Given the description of an element on the screen output the (x, y) to click on. 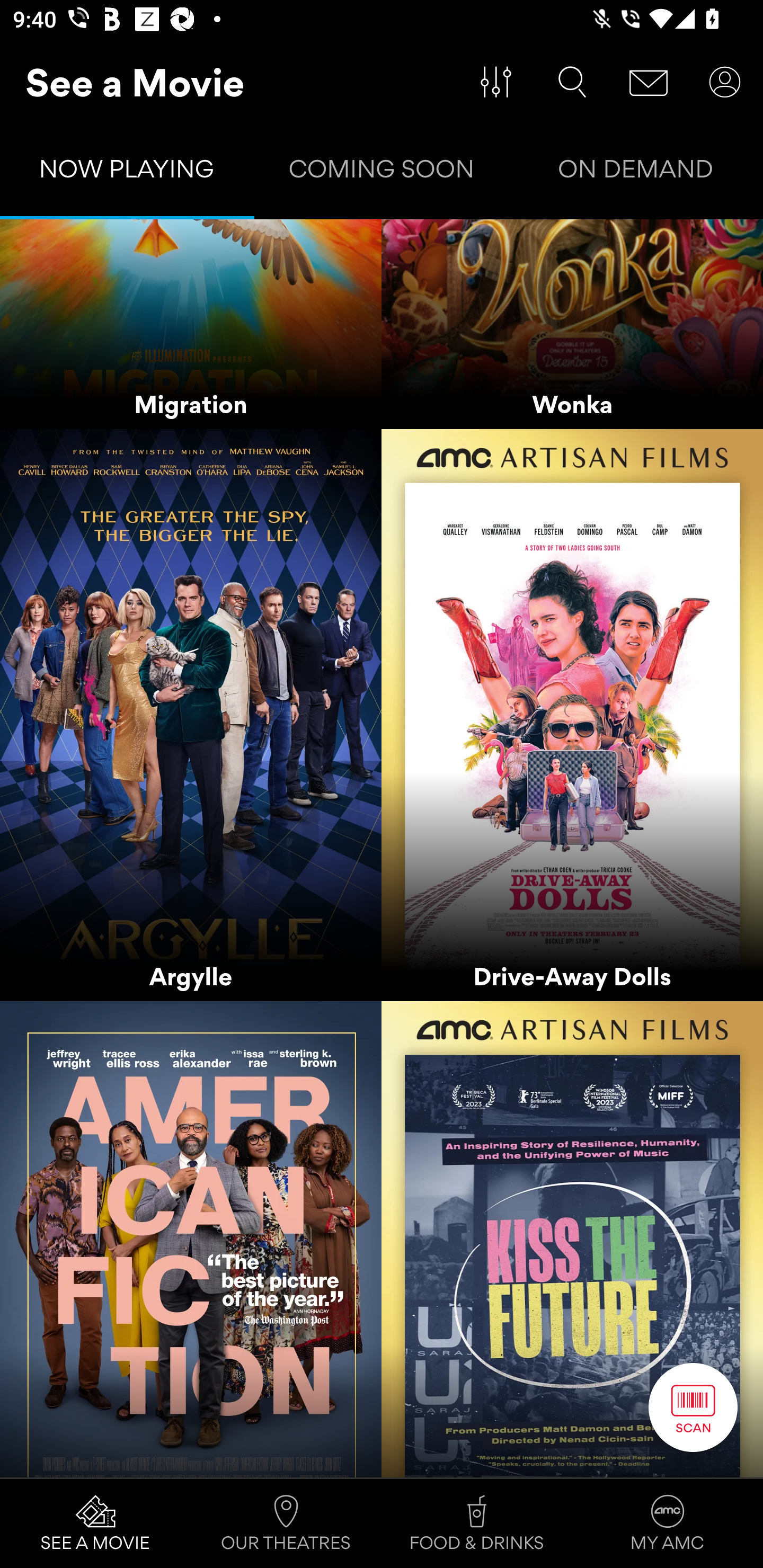
Filter Movies (495, 82)
Search (572, 82)
Message Center (648, 82)
User Account (724, 82)
NOW PLAYING
Tab 1 of 3 (127, 173)
COMING SOON
Tab 2 of 3 (381, 173)
ON DEMAND
Tab 3 of 3 (635, 173)
Migration (190, 324)
Wonka (572, 324)
Argylle (190, 715)
Drive-Away Dolls (572, 715)
American Fiction (190, 1239)
Kiss the Future (572, 1239)
Scan Button (692, 1406)
SEE A MOVIE
Tab 1 of 4 (95, 1523)
OUR THEATRES
Tab 2 of 4 (285, 1523)
FOOD & DRINKS
Tab 3 of 4 (476, 1523)
MY AMC
Tab 4 of 4 (667, 1523)
